Given the description of an element on the screen output the (x, y) to click on. 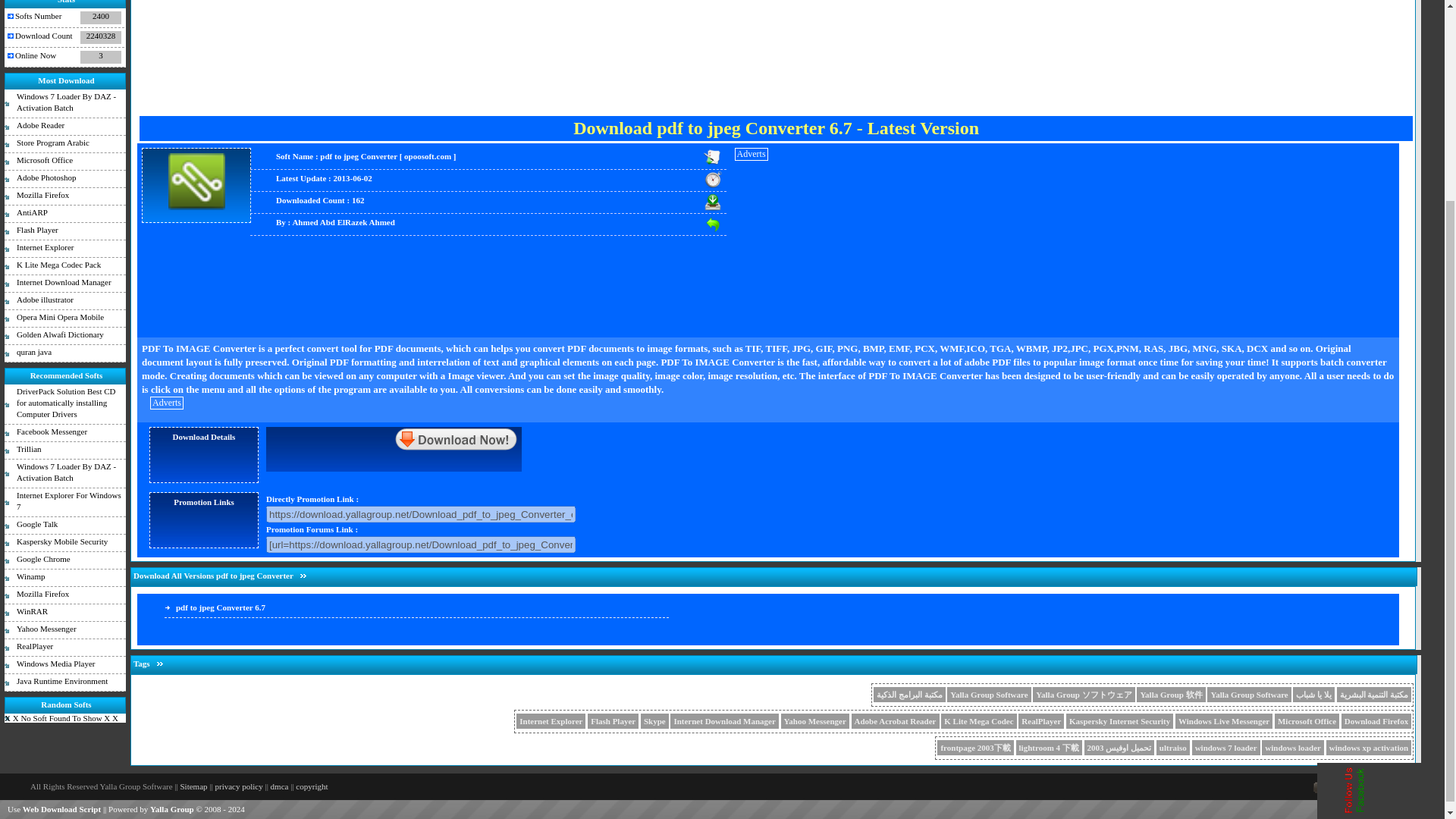
Internet Explorer (64, 248)
Rss (1404, 789)
Trillian (64, 450)
Golden Alwafi Dictionary (64, 335)
Facebook Messenger (64, 433)
dmca (279, 786)
Advertisement (776, 53)
AntiARP (64, 213)
Store Program Arabic (64, 144)
Microsoft Office (64, 161)
Windows 7 Loader By DAZ - Activation Batch (64, 473)
Adobe Reader (64, 126)
Opera Mini Opera Mobile (64, 318)
Internet Explorer For Windows 7 (64, 502)
Css Validate (1330, 789)
